Given the description of an element on the screen output the (x, y) to click on. 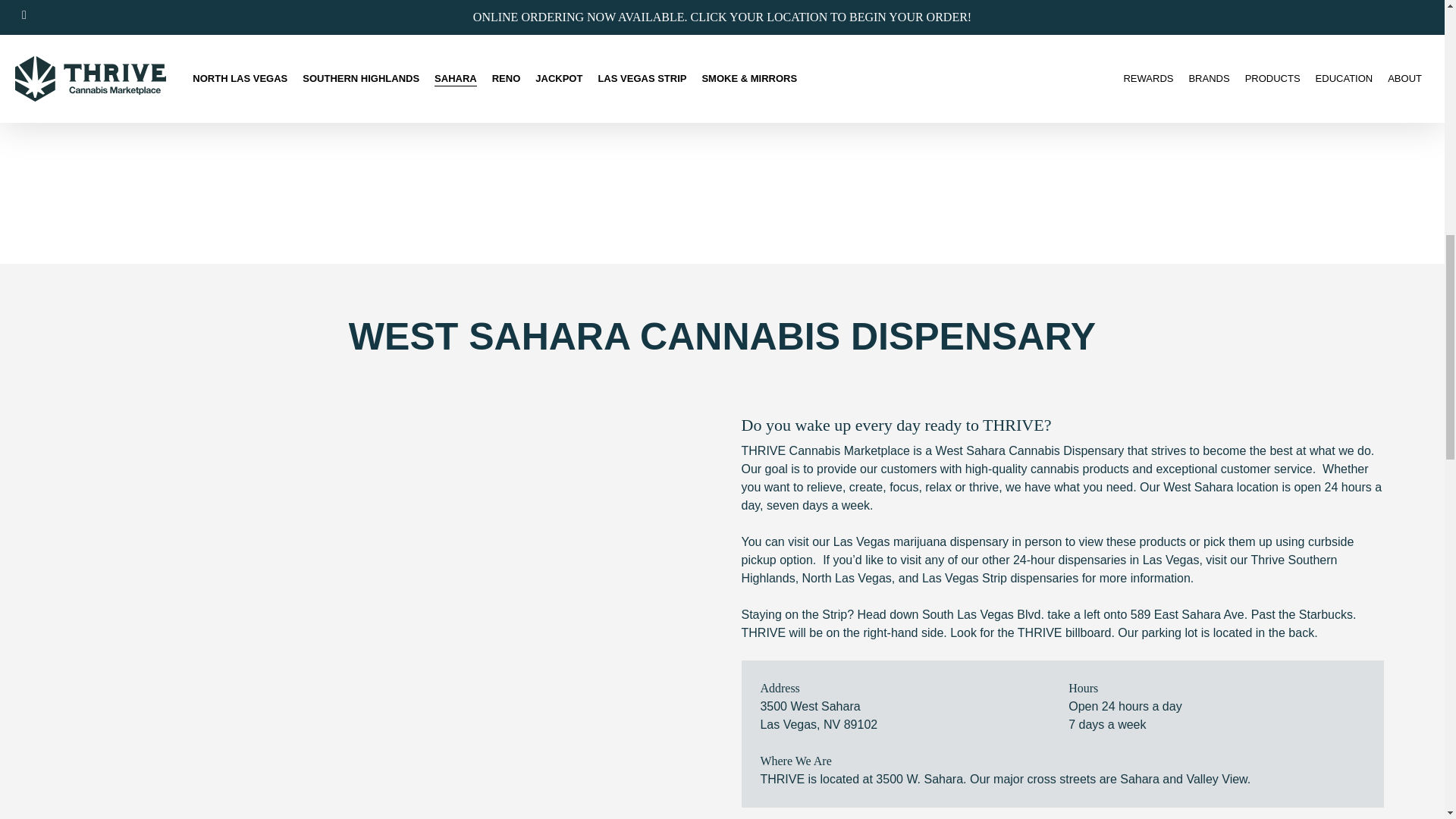
North Las Vegas (846, 577)
Southern Highlands (1039, 568)
